Given the description of an element on the screen output the (x, y) to click on. 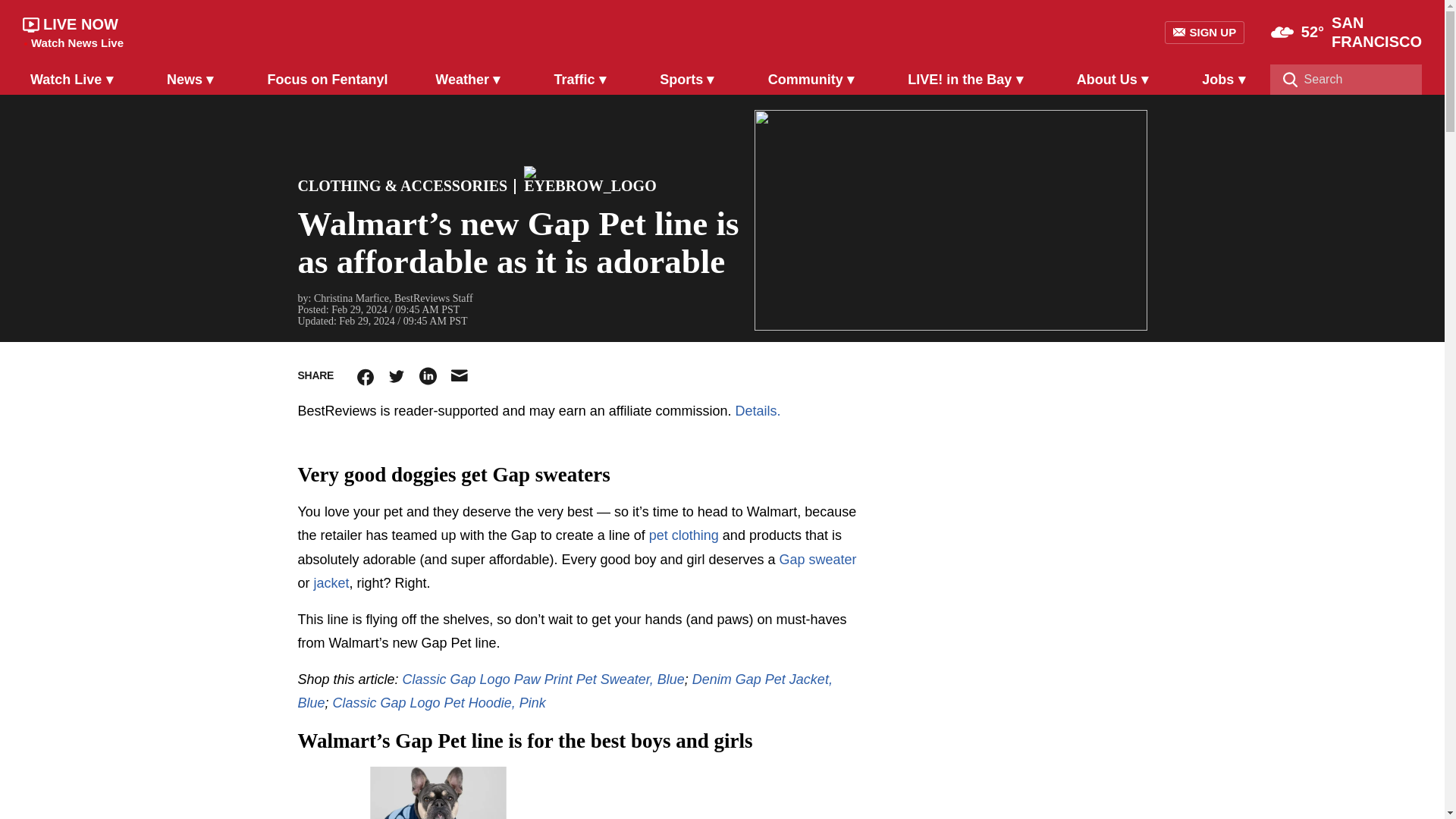
News (193, 79)
Watch News Live (76, 42)
Watch Live (74, 79)
SIGN UP (1204, 32)
